Given the description of an element on the screen output the (x, y) to click on. 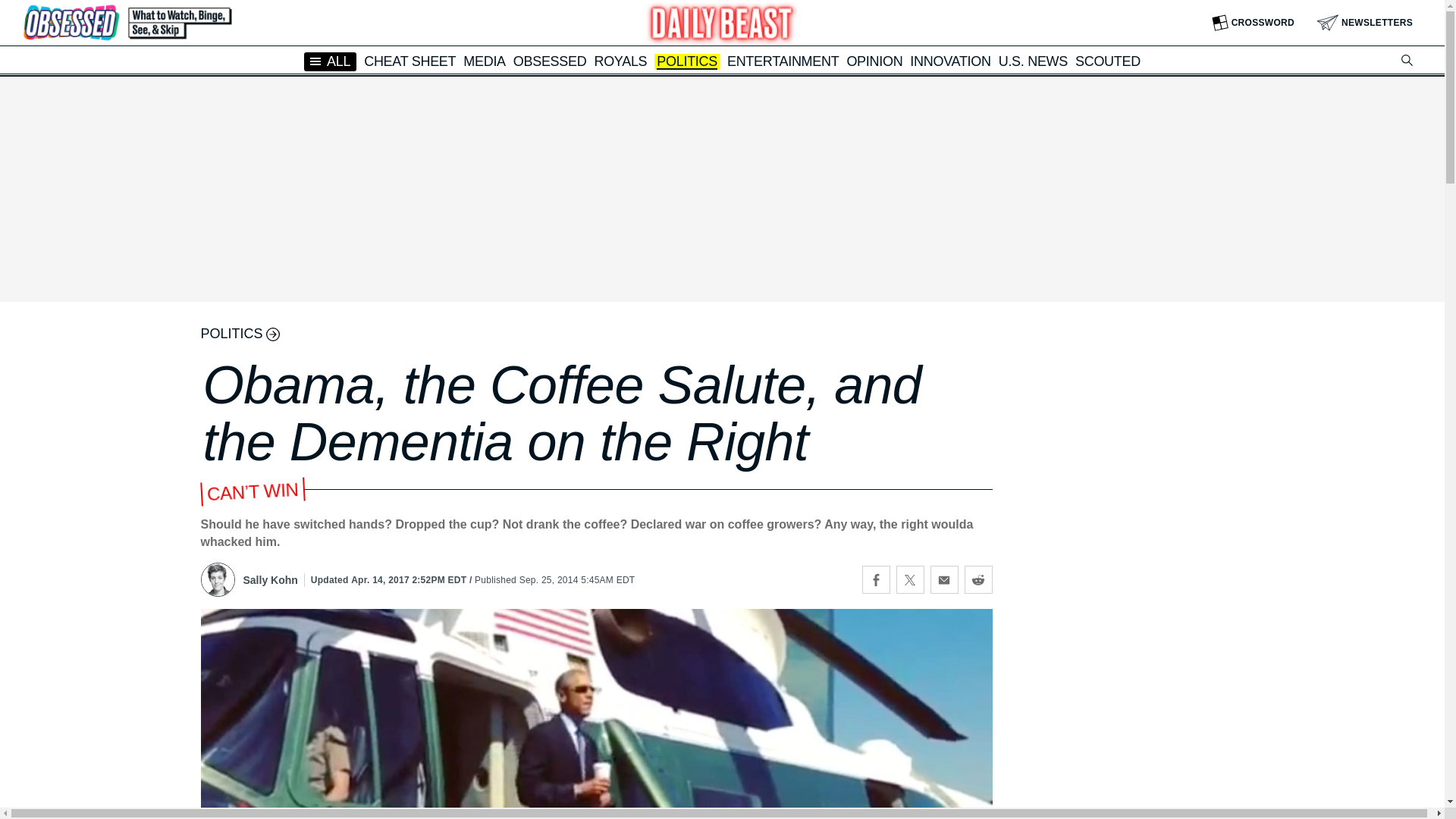
OBSESSED (549, 60)
ALL (330, 60)
NEWSLETTERS (1364, 22)
MEDIA (484, 60)
OPINION (873, 60)
INNOVATION (950, 60)
CROSSWORD (1252, 22)
ENTERTAINMENT (782, 60)
SCOUTED (1107, 60)
U.S. NEWS (1032, 60)
